Given the description of an element on the screen output the (x, y) to click on. 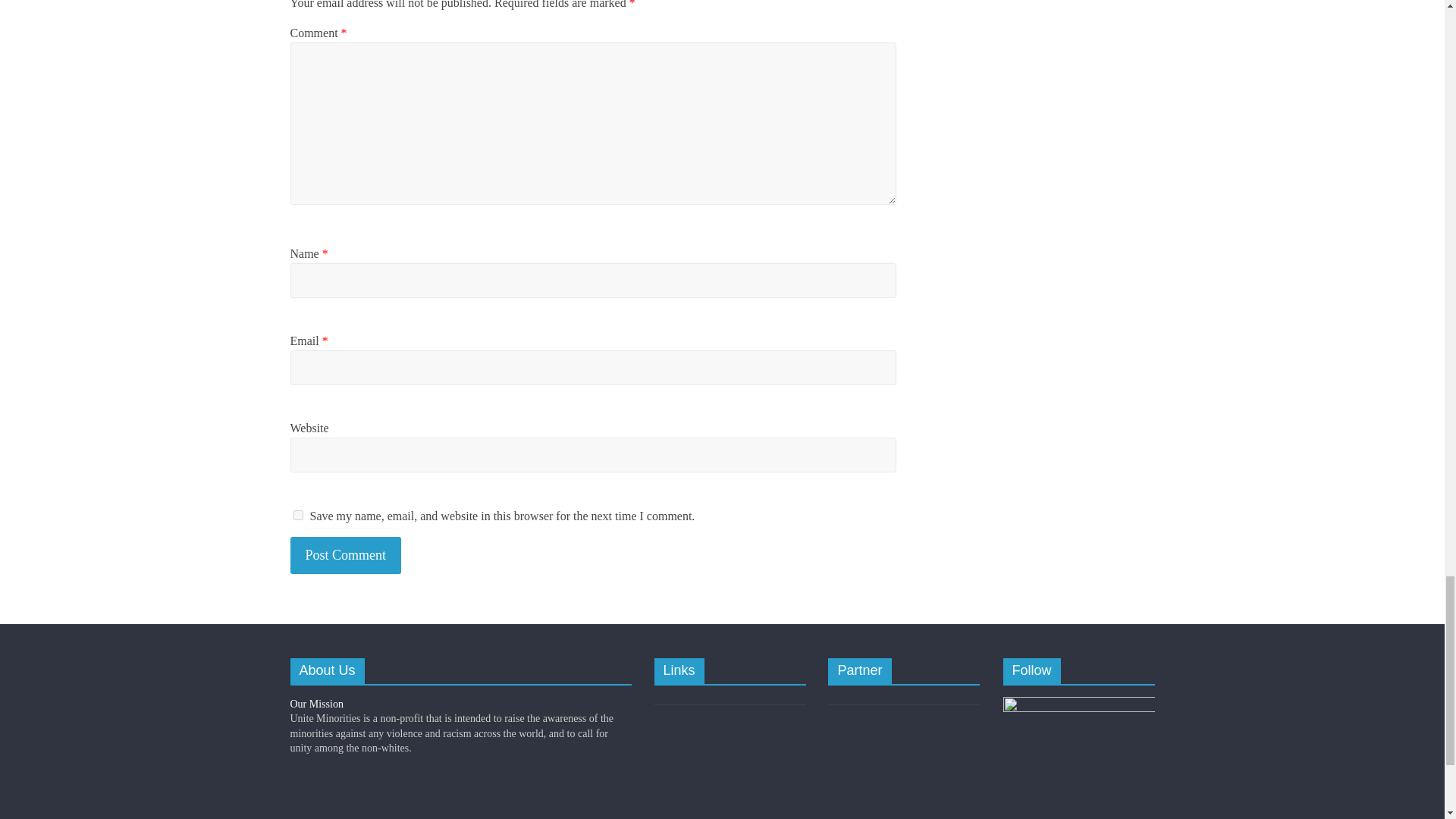
yes (297, 515)
Post Comment (345, 555)
